Given the description of an element on the screen output the (x, y) to click on. 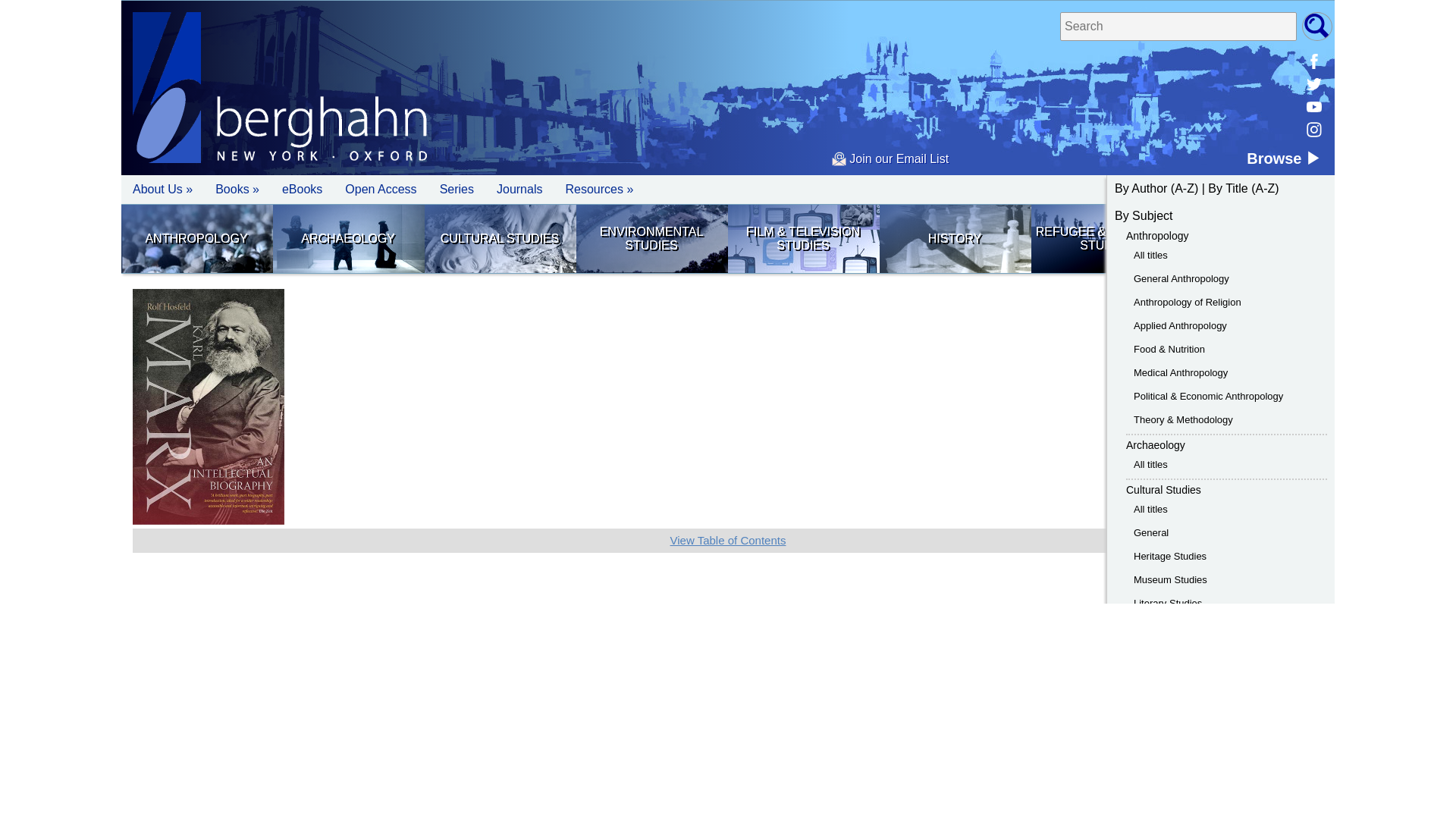
Berghahn Books on Instagram (1313, 128)
Film Studies (802, 238)
By Subject (1143, 215)
Anthropology of Religion (1187, 301)
Museum Studies (1170, 579)
Heritage Studies (1170, 555)
Archaeology (348, 238)
Medical Anthropology (1180, 372)
General (1151, 532)
All titles (1150, 255)
Anthropology (1157, 235)
Berghahn Books on Youtube (1313, 106)
Browse (1283, 158)
By Author (1141, 187)
Archaeology (1155, 444)
